Given the description of an element on the screen output the (x, y) to click on. 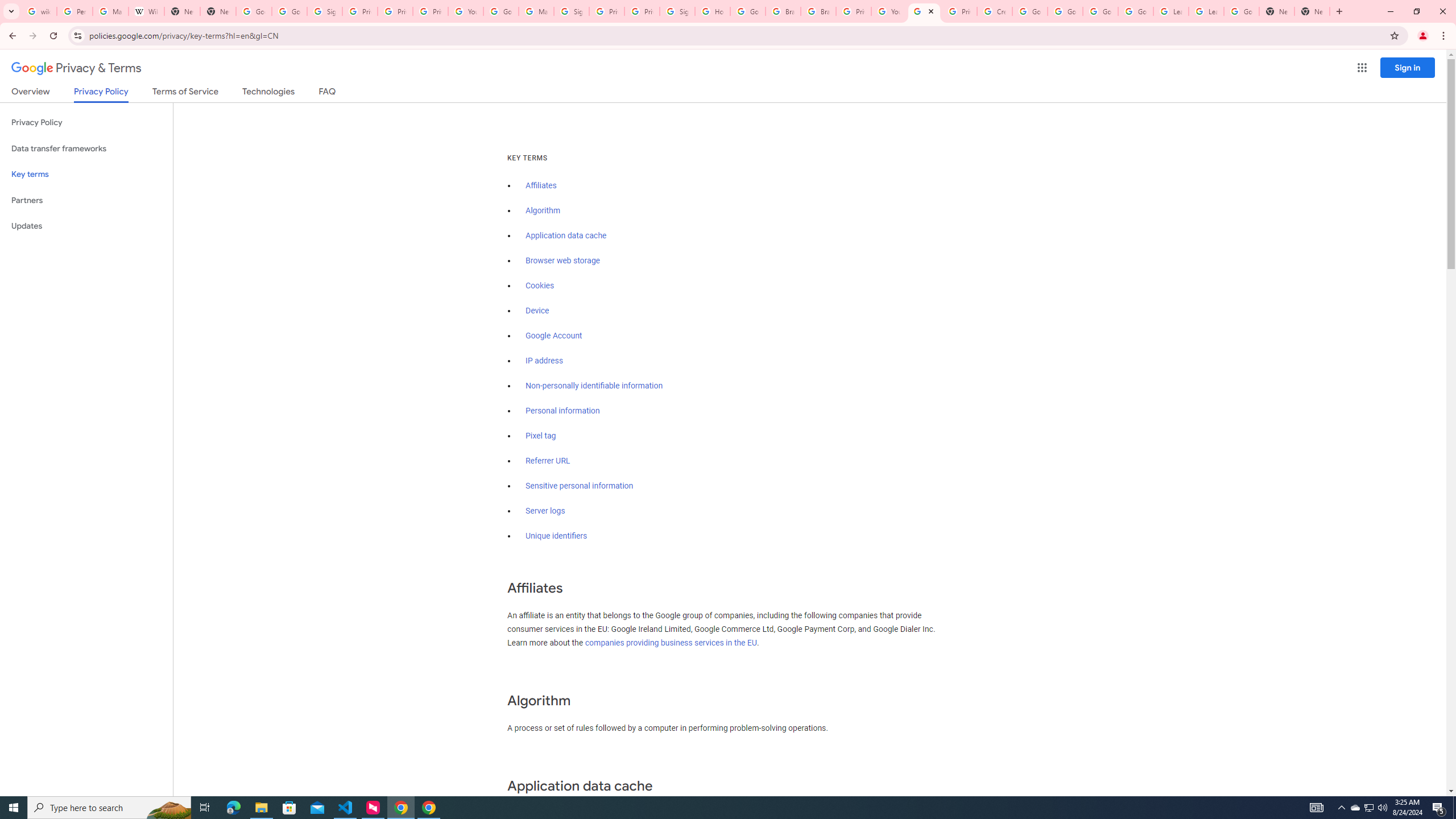
Unique identifiers (556, 536)
Google Account Help (1135, 11)
Application data cache (566, 235)
Pixel tag (540, 435)
